Given the description of an element on the screen output the (x, y) to click on. 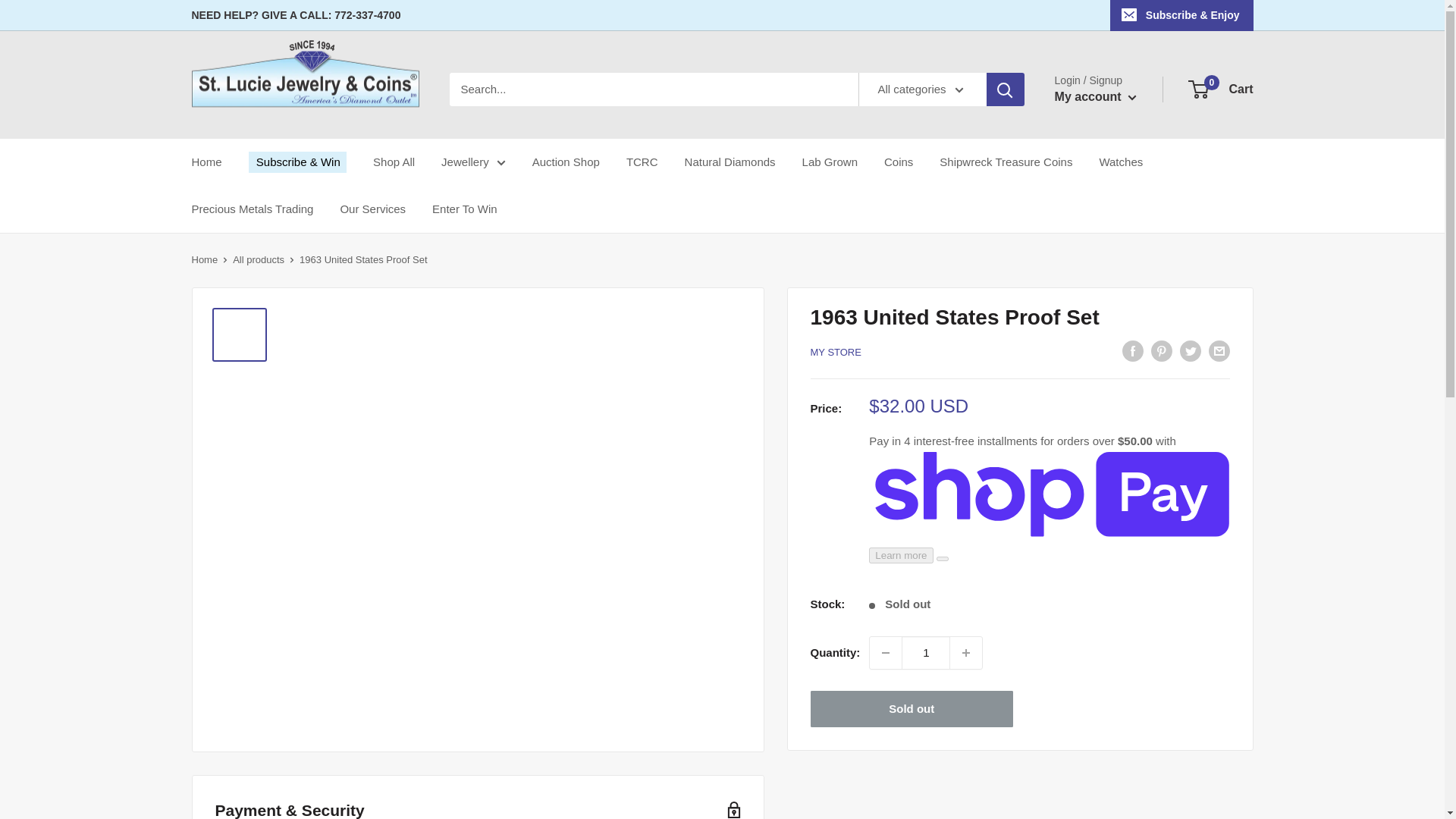
Decrease quantity by 1 (885, 653)
My account (1095, 96)
Increase quantity by 1 (965, 653)
1 (925, 653)
ST Lucie Jewelry (304, 89)
NEED HELP? GIVE A CALL: 772-337-4700 (295, 15)
